Given the description of an element on the screen output the (x, y) to click on. 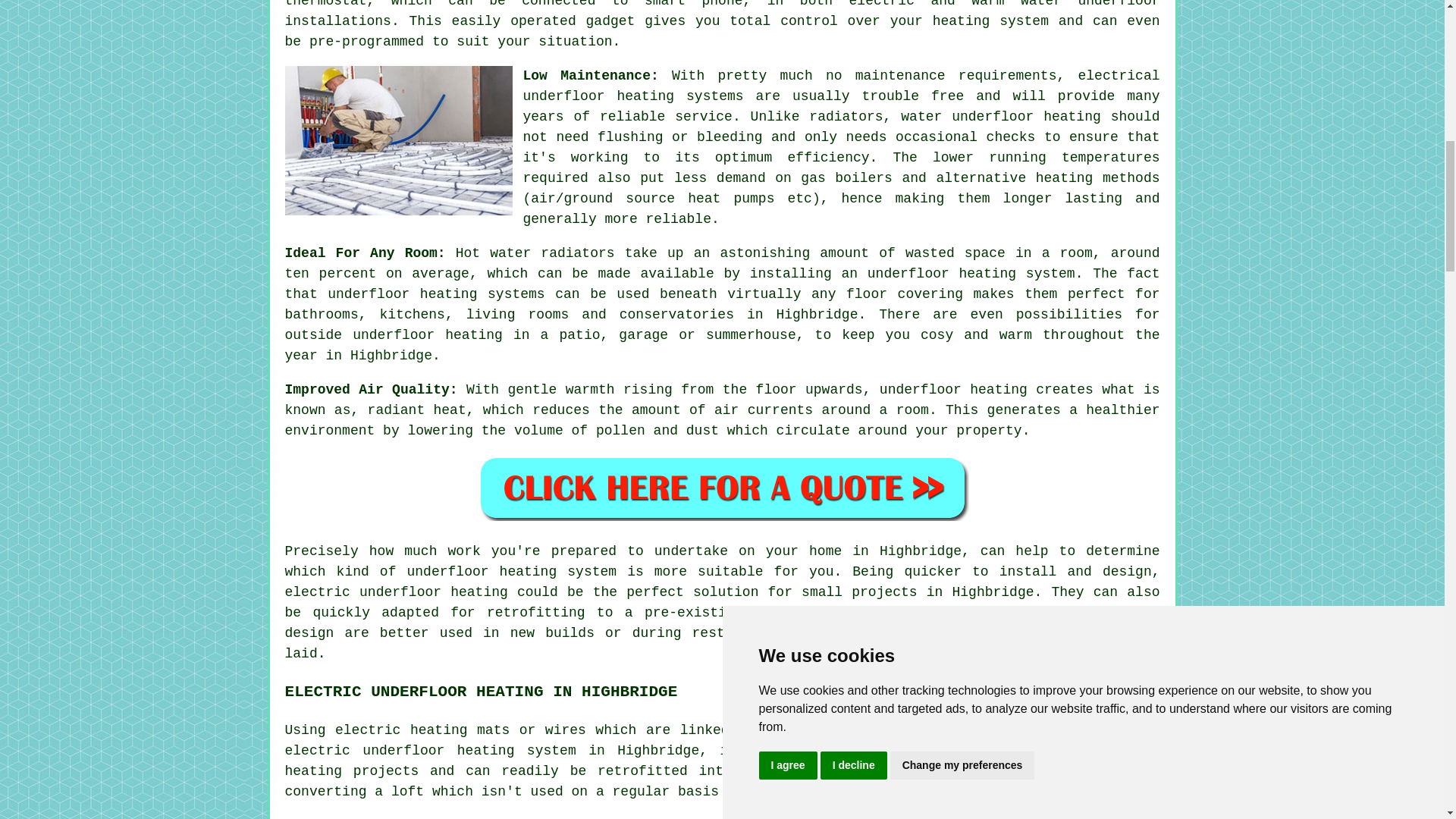
radiant heat (416, 409)
Electric Underfloor Heating Near Highbridge Somerset (1046, 817)
maintenance (900, 75)
control (809, 20)
Underfloor Heating Quotes in Highbridge Somerset (722, 487)
source heat pumps (700, 198)
